Given the description of an element on the screen output the (x, y) to click on. 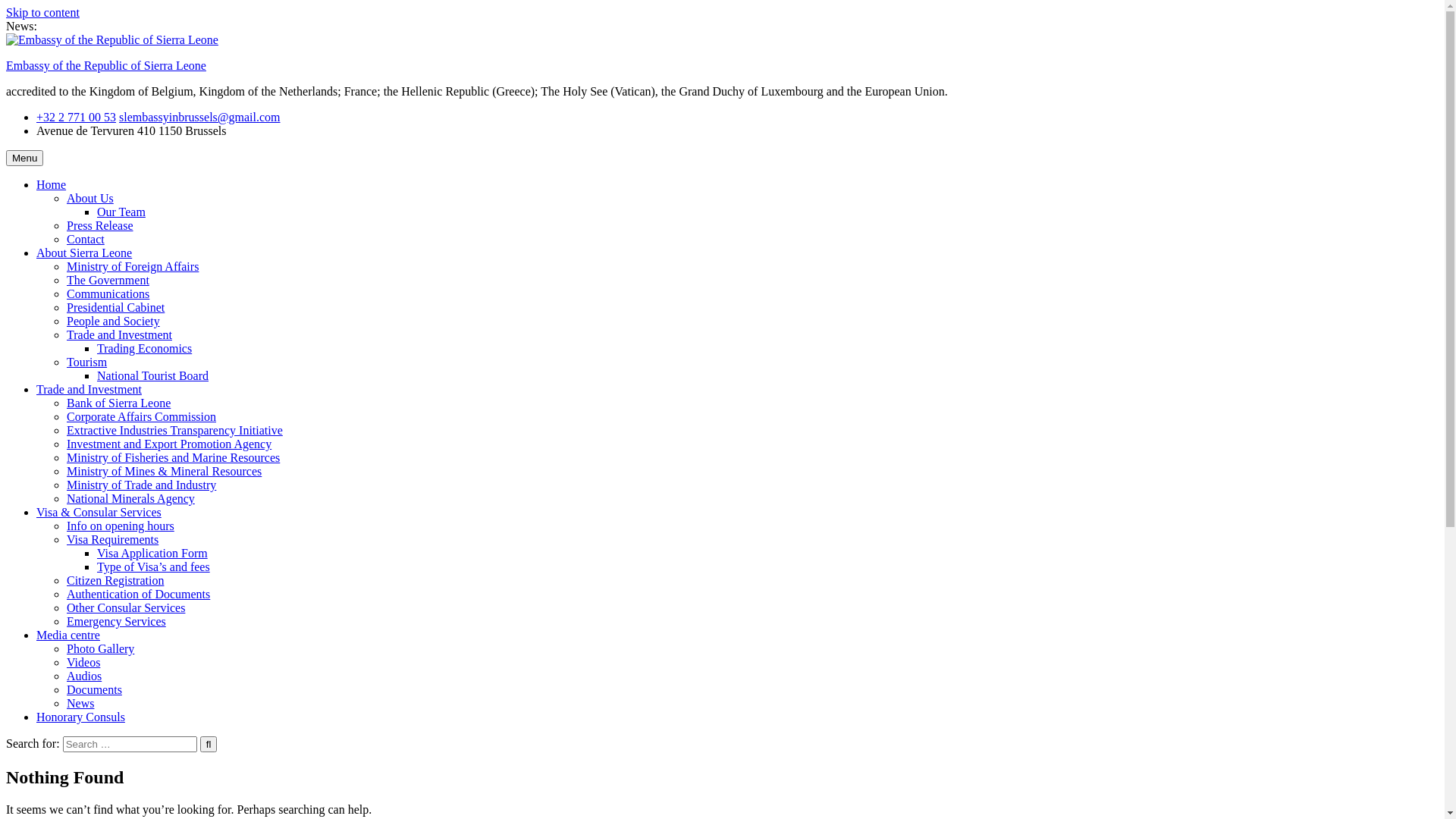
Visa Application Form Element type: text (152, 552)
Other Consular Services Element type: text (125, 607)
News Element type: text (80, 702)
Our Team Element type: text (121, 211)
Home Element type: text (50, 184)
National Tourist Board Element type: text (152, 375)
Videos Element type: text (83, 661)
Bank of Sierra Leone Element type: text (118, 402)
Audios Element type: text (83, 675)
Authentication of Documents Element type: text (138, 593)
Press Release Element type: text (99, 225)
Trading Economics Element type: text (144, 348)
Contact Element type: text (85, 238)
+32 2 771 00 53 Element type: text (76, 116)
Visa Requirements Element type: text (112, 539)
Emergency Services Element type: text (116, 621)
The Government Element type: text (107, 279)
Embassy of the Republic of Sierra Leone Element type: text (106, 65)
About Sierra Leone Element type: text (83, 252)
Tourism Element type: text (86, 361)
Documents Element type: text (94, 689)
About Us Element type: text (89, 197)
People and Society Element type: text (113, 320)
Corporate Affairs Commission Element type: text (141, 416)
slembassyinbrussels@gmail.com Element type: text (199, 116)
Media centre Element type: text (68, 634)
National Minerals Agency Element type: text (130, 498)
Ministry of Trade and Industry Element type: text (141, 484)
Citizen Registration Element type: text (114, 580)
Presidential Cabinet Element type: text (115, 307)
Trade and Investment Element type: text (119, 334)
Investment and Export Promotion Agency Element type: text (168, 443)
Communications Element type: text (107, 293)
Honorary Consuls Element type: text (80, 716)
Ministry of Foreign Affairs Element type: text (132, 266)
Menu Element type: text (24, 158)
Extractive Industries Transparency Initiative Element type: text (174, 429)
Trade and Investment Element type: text (88, 388)
Info on opening hours Element type: text (120, 525)
Ministry of Fisheries and Marine Resources Element type: text (172, 457)
Ministry of Mines & Mineral Resources Element type: text (163, 470)
Skip to content Element type: text (42, 12)
Visa & Consular Services Element type: text (98, 511)
Photo Gallery Element type: text (100, 648)
